Given the description of an element on the screen output the (x, y) to click on. 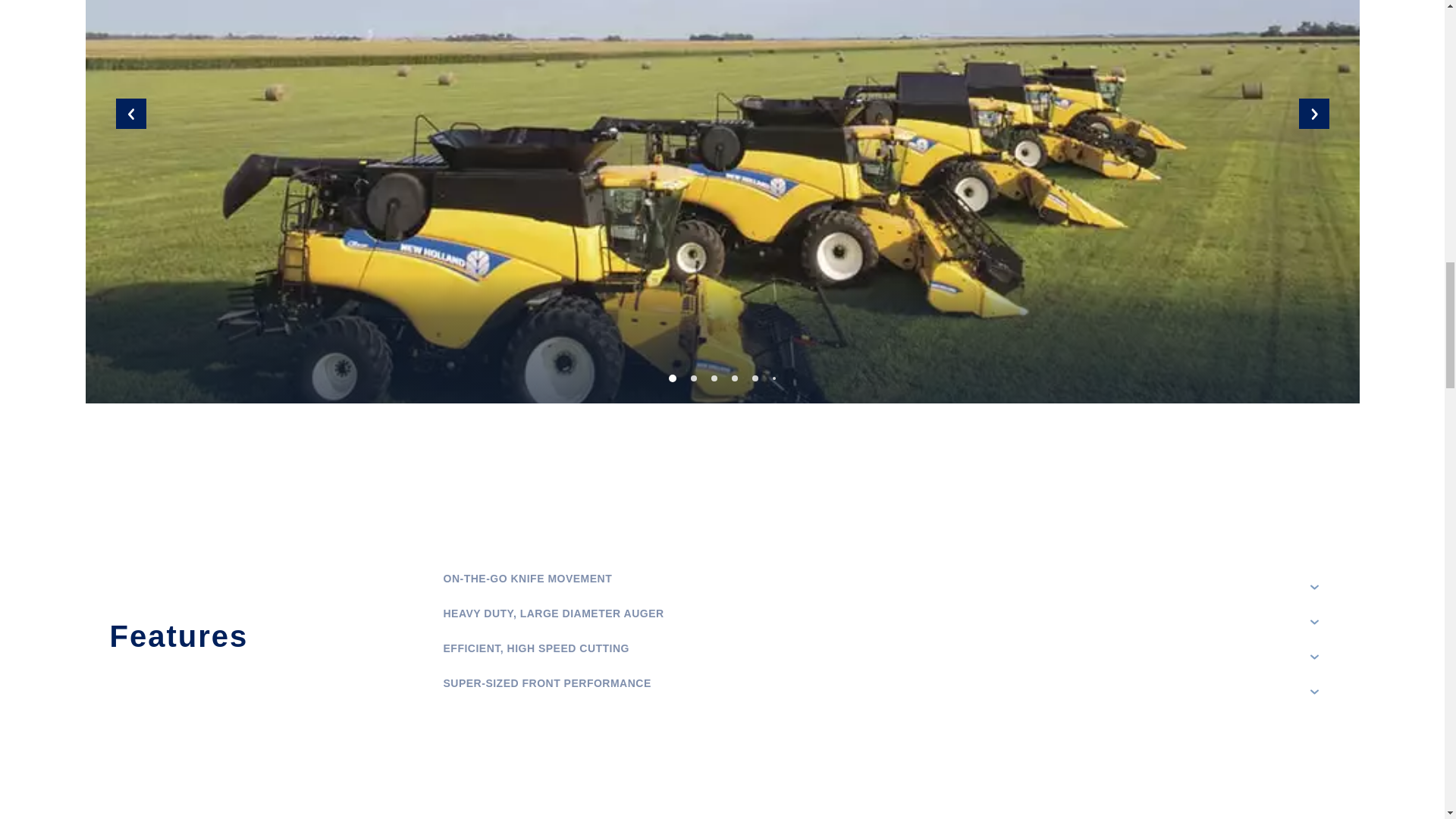
SUPER-SIZED FRONT PERFORMANCE (882, 691)
HEAVY DUTY, LARGE DIAMETER AUGER (882, 621)
ON-THE-GO KNIFE MOVEMENT (882, 586)
EFFICIENT, HIGH SPEED CUTTING (882, 656)
